Given the description of an element on the screen output the (x, y) to click on. 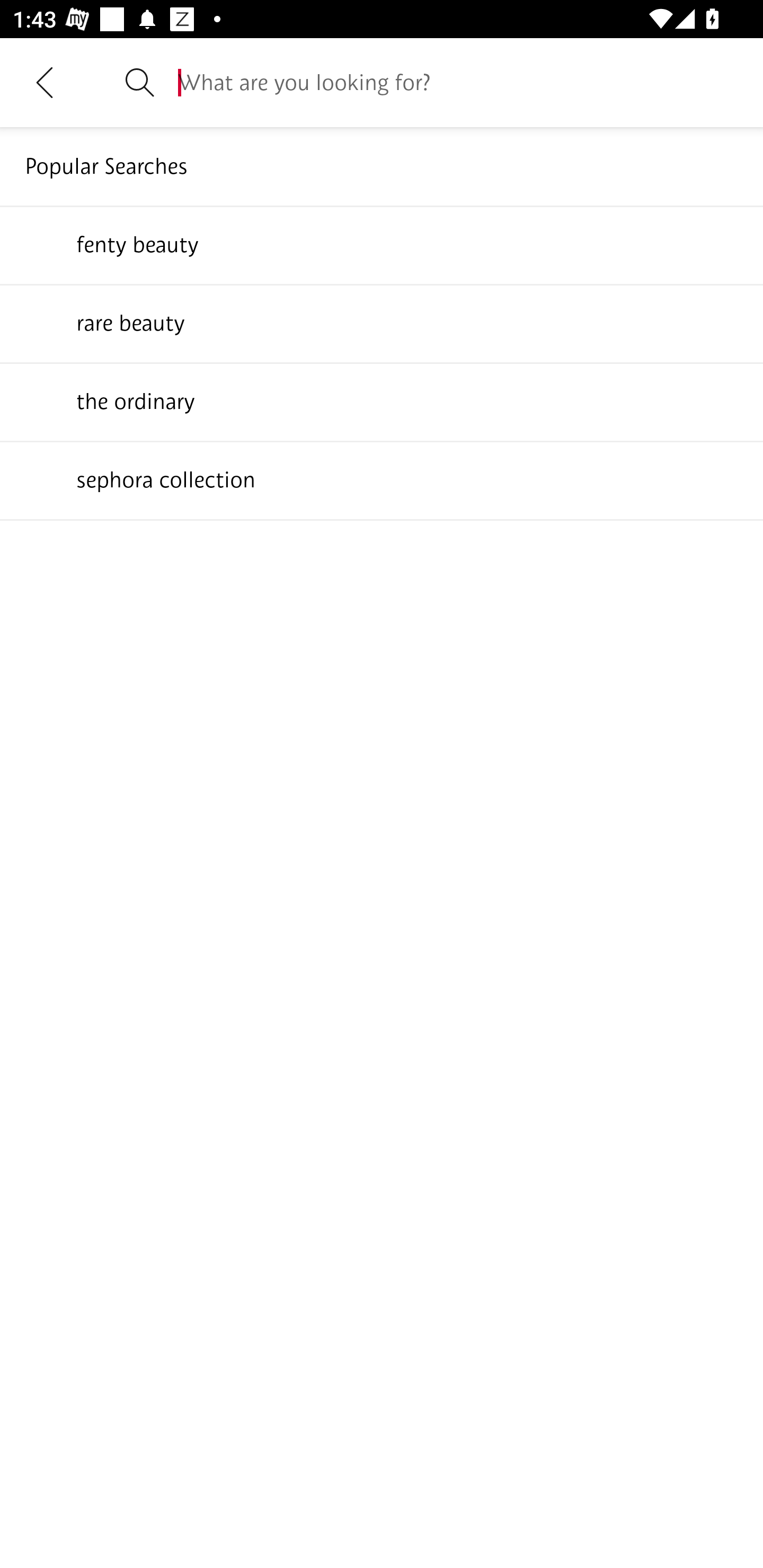
Navigate up (44, 82)
What are you looking for? (457, 82)
fenty beauty (381, 244)
rare beauty (381, 322)
the ordinary (381, 401)
sephora collection (381, 479)
